Given the description of an element on the screen output the (x, y) to click on. 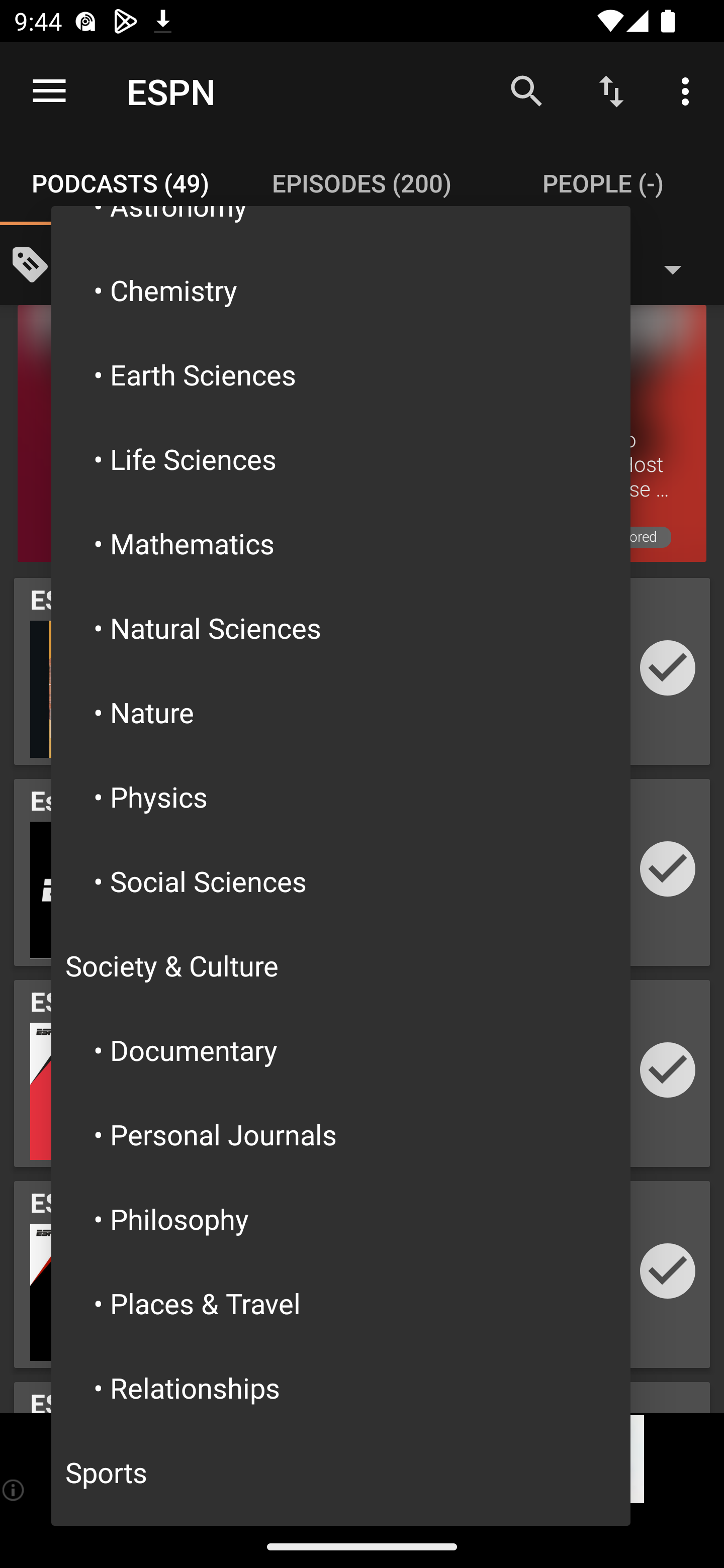
    • Chemistry (340, 289)
    • Earth Sciences (340, 374)
    • Life Sciences (340, 459)
    • Mathematics (340, 542)
    • Natural Sciences (340, 626)
    • Nature (340, 711)
    • Physics (340, 796)
    • Social Sciences (340, 880)
Society & Culture (340, 965)
    • Documentary (340, 1049)
    • Personal Journals (340, 1133)
    • Philosophy (340, 1218)
    • Places & Travel (340, 1302)
    • Relationships (340, 1387)
Sports (340, 1472)
